Given the description of an element on the screen output the (x, y) to click on. 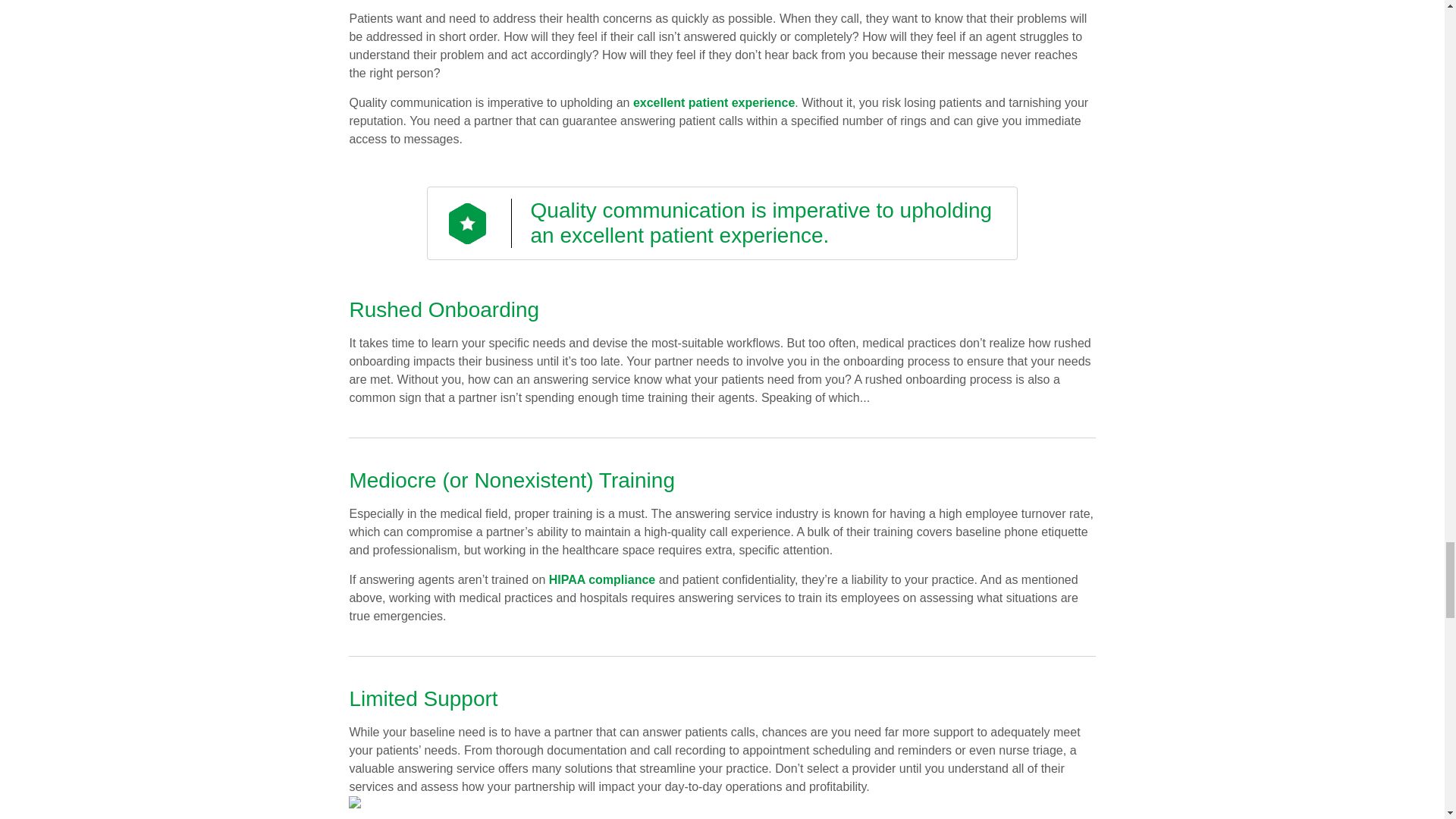
excellent patient experience (713, 102)
HIPAA compliance (601, 579)
